Given the description of an element on the screen output the (x, y) to click on. 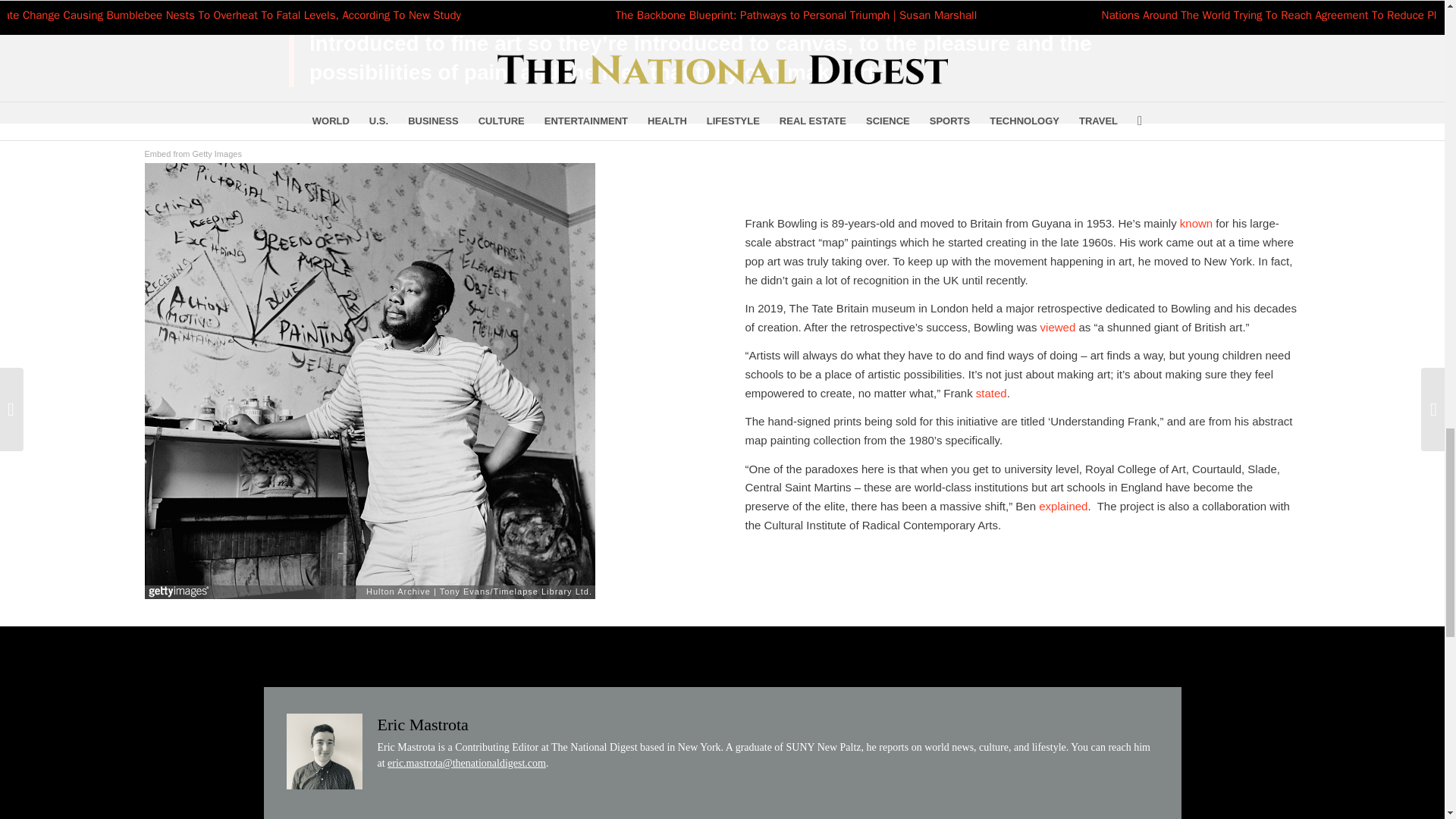
known (1195, 223)
explained (1063, 505)
viewed (1058, 327)
Embed from Getty Images (192, 154)
Eric Mastrota (422, 723)
stated (991, 392)
